Given the description of an element on the screen output the (x, y) to click on. 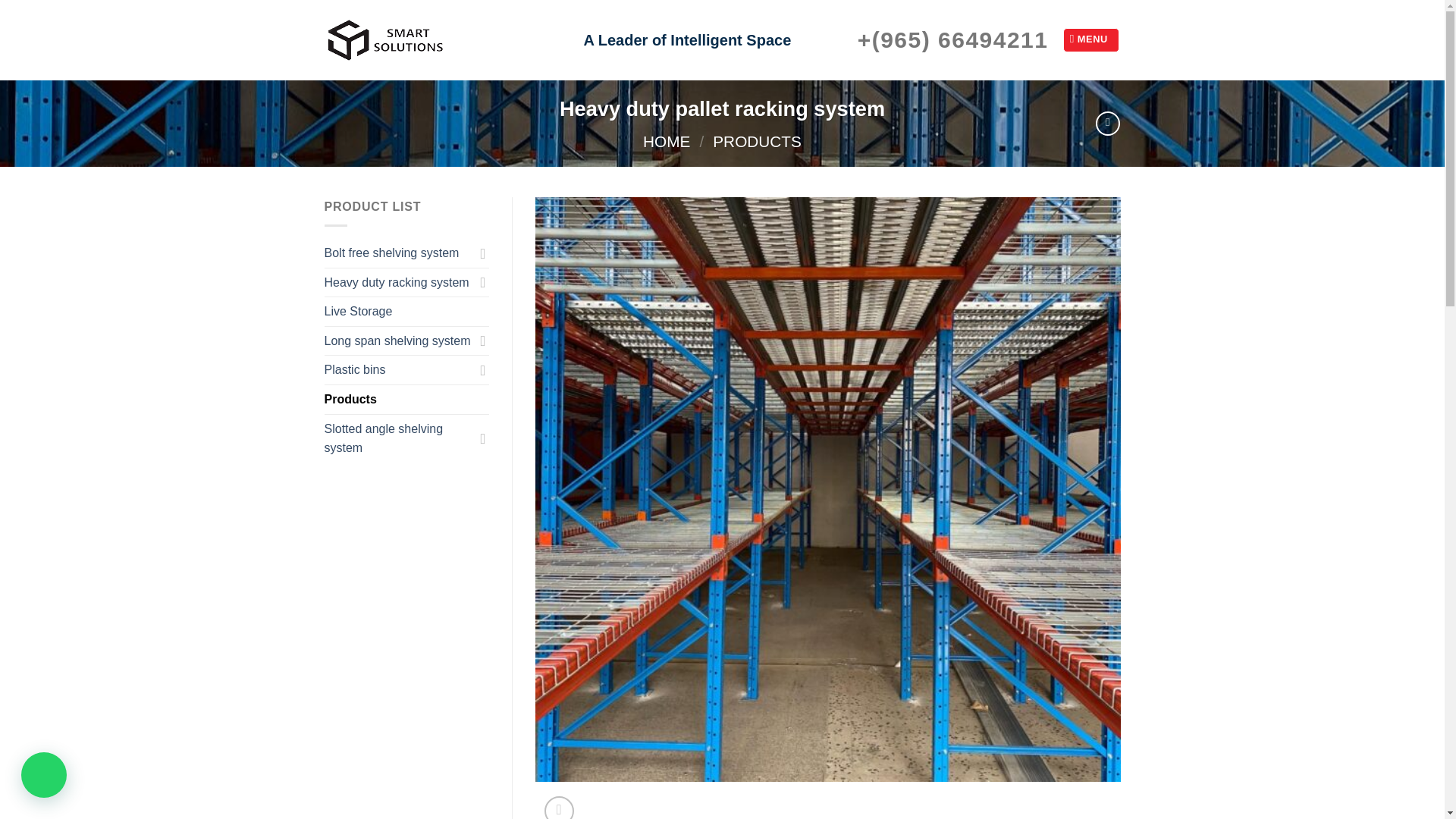
HOME (666, 140)
Products (406, 399)
MENU (1090, 39)
Slotted angle shelving system (399, 438)
Live Storage (406, 311)
Bolt free shelving system (399, 253)
Zoom (558, 807)
Plastic bins (399, 369)
Heavy duty racking system (399, 282)
Long span shelving system (399, 340)
PRODUCTS (757, 140)
